Given the description of an element on the screen output the (x, y) to click on. 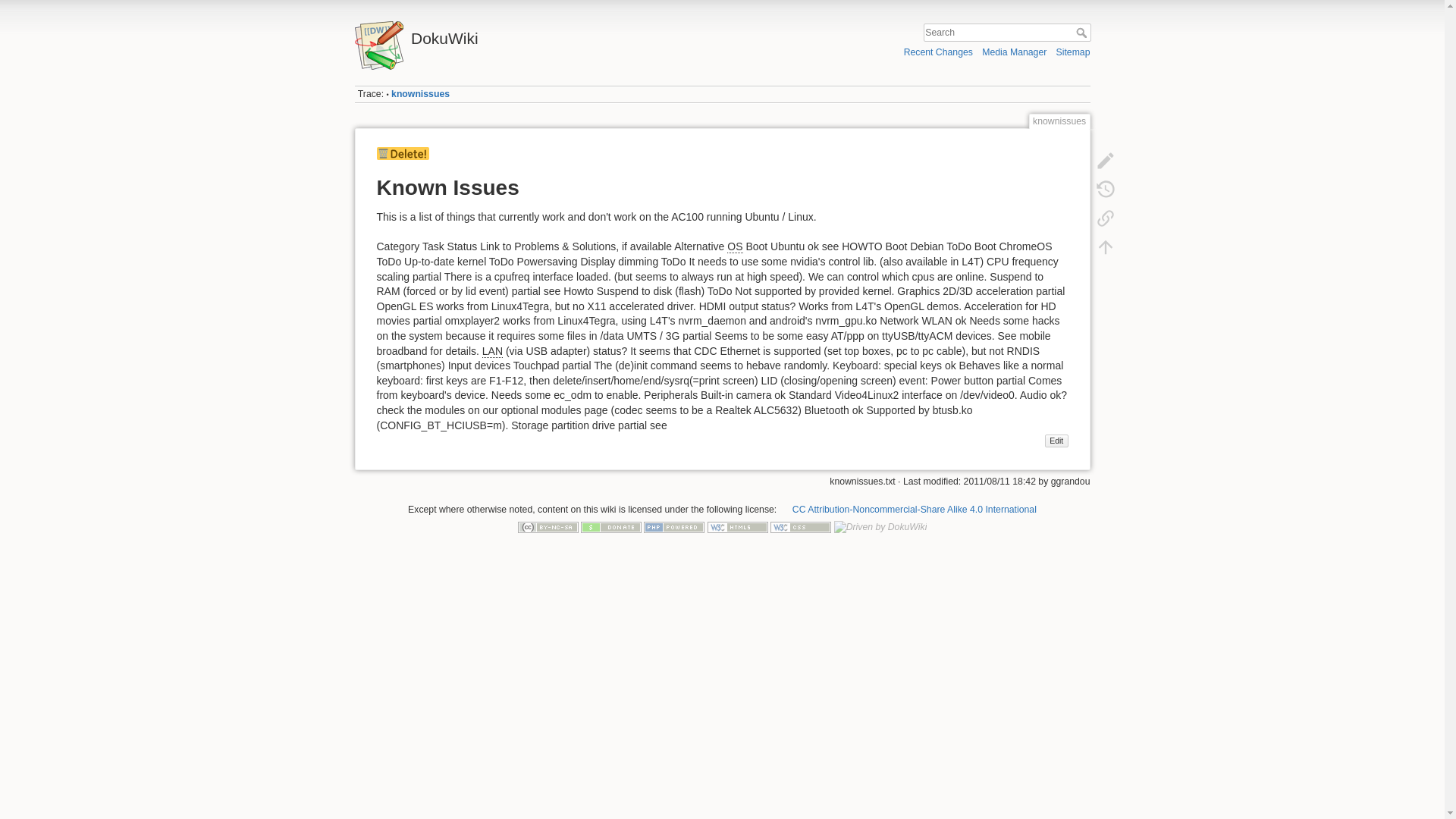
Local Area Network (491, 350)
knownissues (420, 93)
Known Issues (1056, 440)
knownissues (420, 93)
Media Manager (1013, 51)
Search (1082, 32)
Operating System (734, 246)
Sitemap (1073, 51)
Recent Changes (938, 51)
Edit (1056, 440)
